Given the description of an element on the screen output the (x, y) to click on. 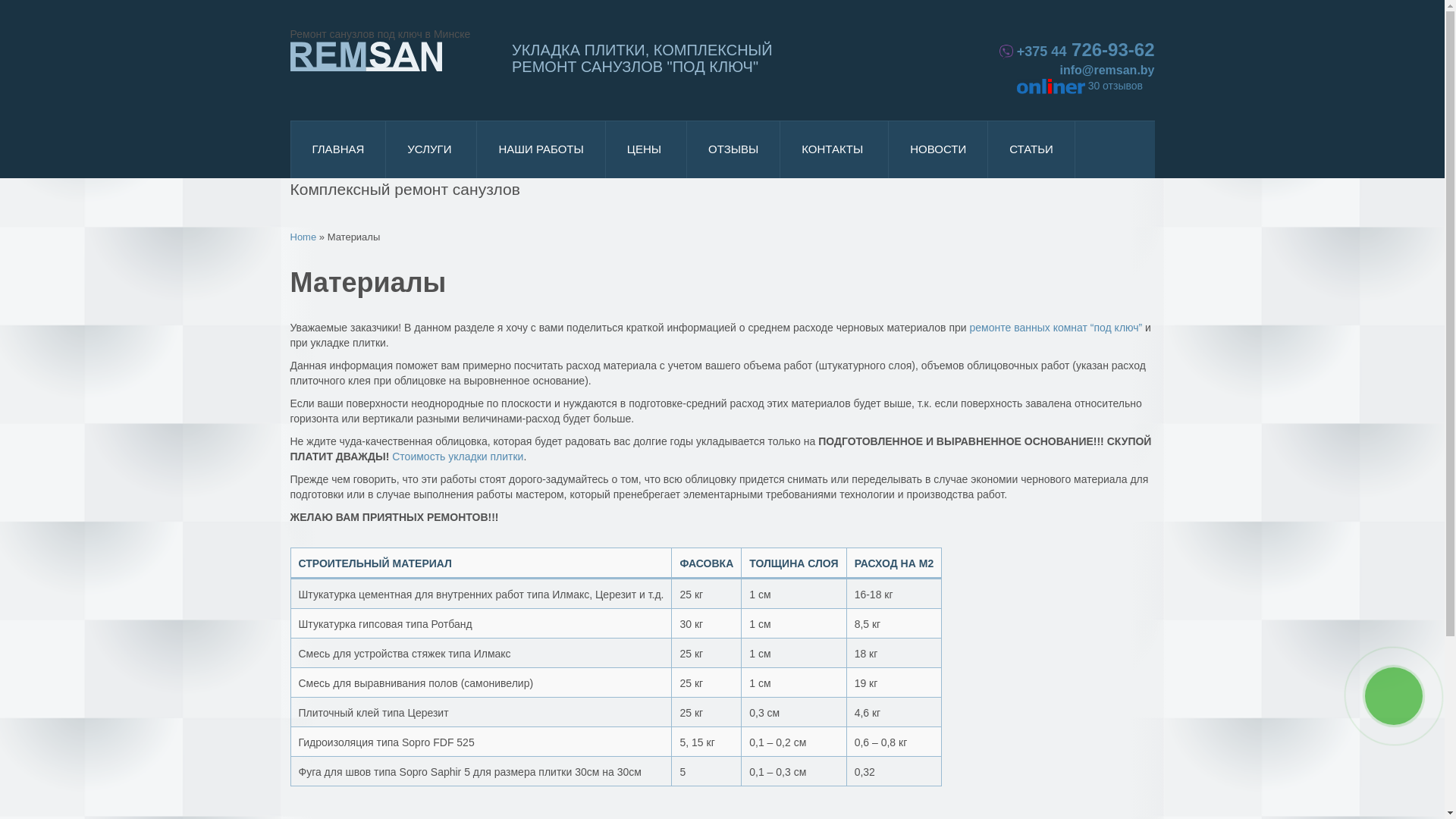
+375 44 726-93-62 Element type: text (1076, 49)
Onliner Element type: hover (1050, 86)
Home Element type: text (302, 236)
info@remsan.by Element type: text (1107, 69)
viber Element type: hover (1006, 51)
remsan.by Element type: hover (365, 56)
